Given the description of an element on the screen output the (x, y) to click on. 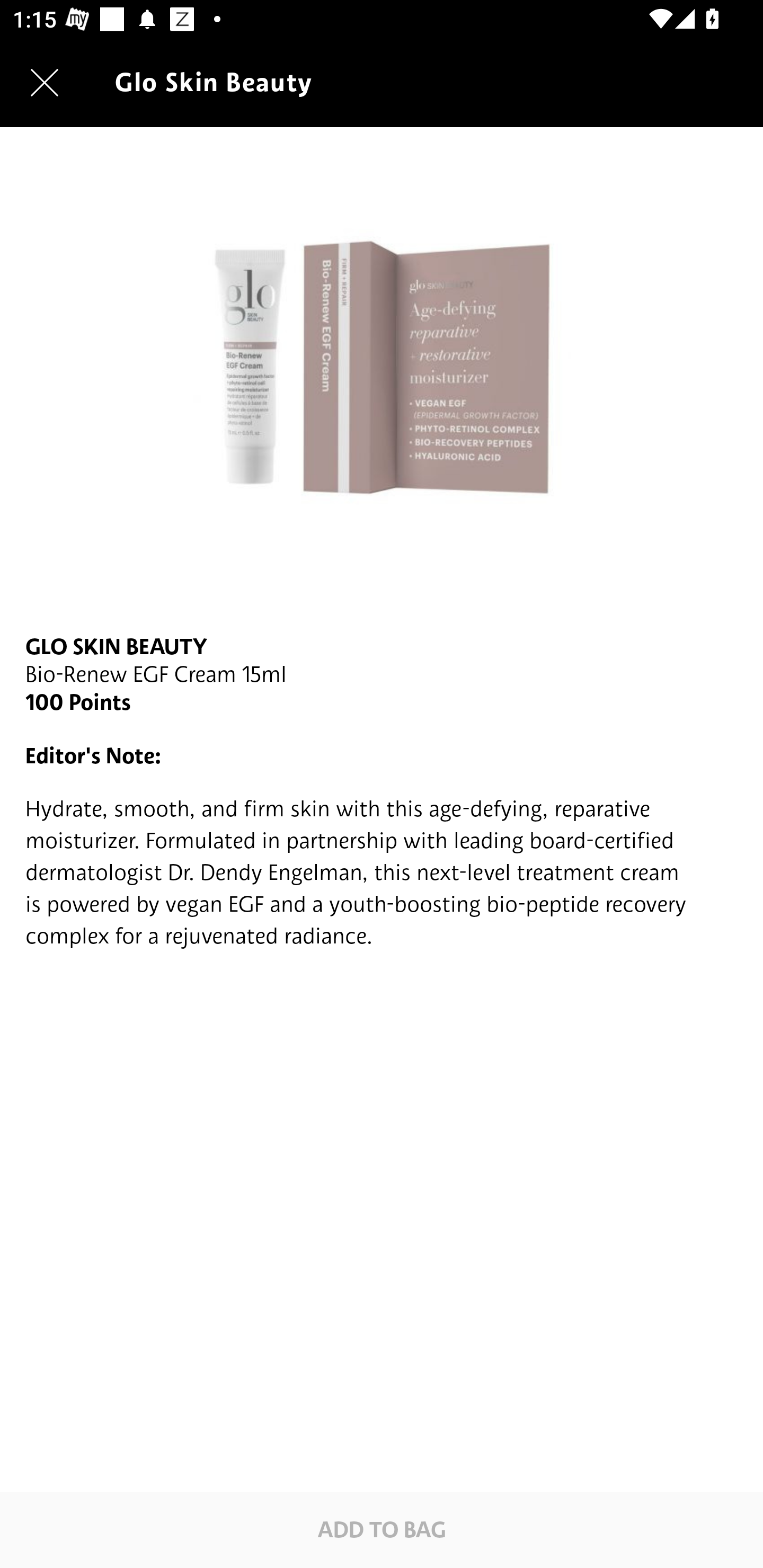
ADD TO BAG (381, 1529)
